Given the description of an element on the screen output the (x, y) to click on. 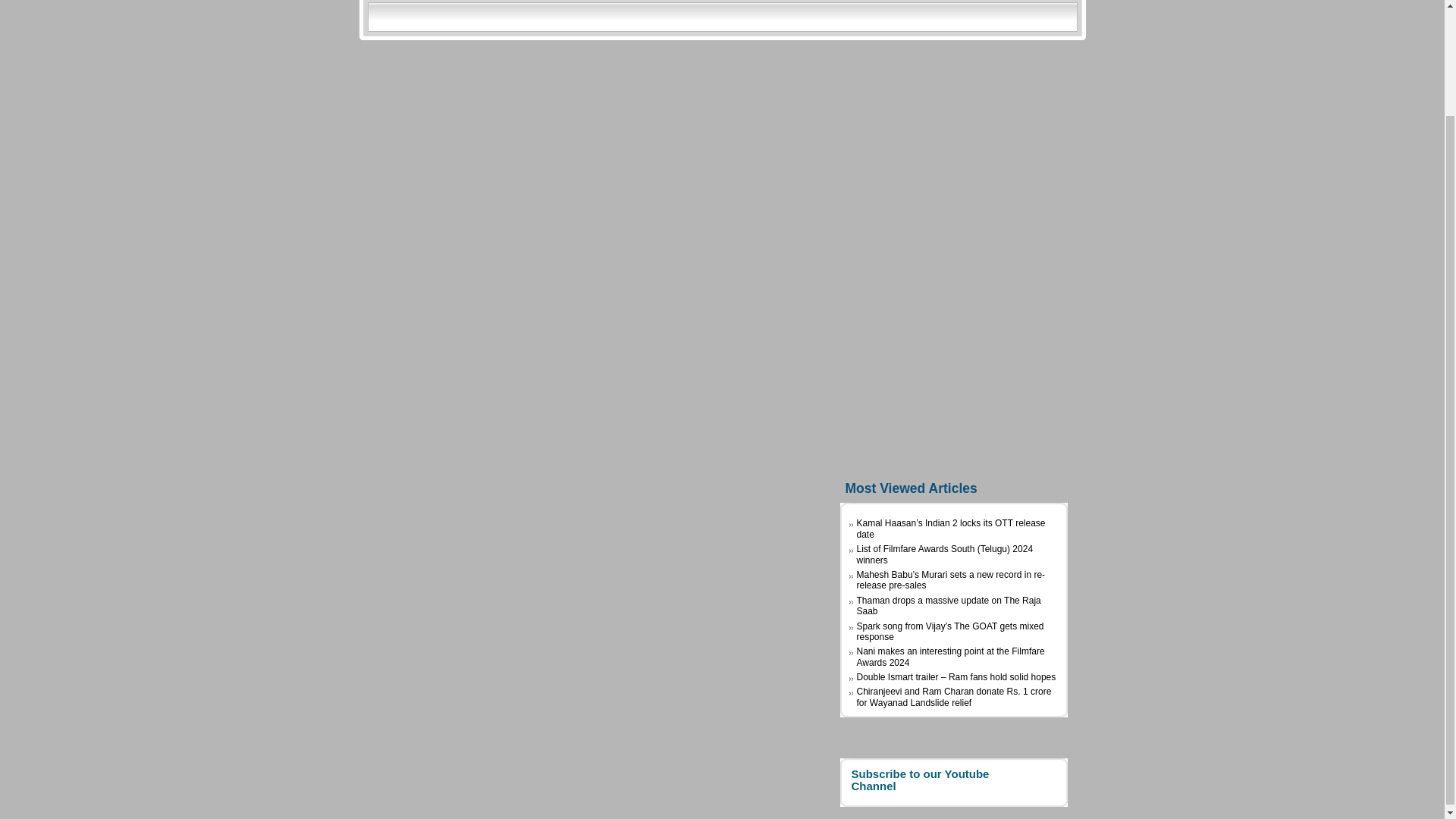
Advertisement (953, 247)
Nani makes an interesting point at the Filmfare Awards 2024 (951, 656)
Thaman drops a massive update on The Raja Saab (949, 605)
